Given the description of an element on the screen output the (x, y) to click on. 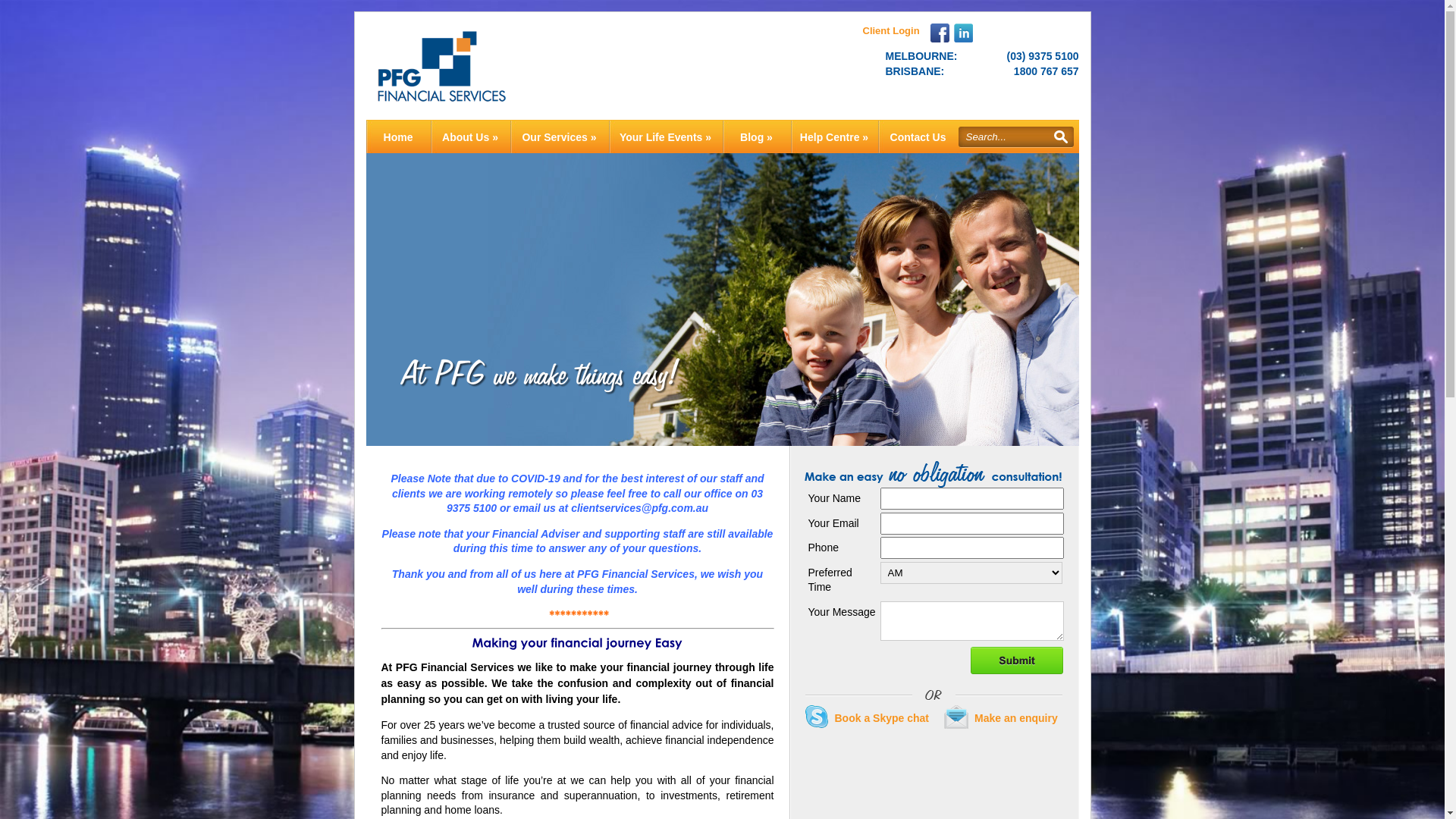
1800 767 657 Element type: text (1046, 71)
Contact Us Element type: text (918, 136)
Home Element type: text (397, 136)
(03) 9375 5100 Element type: text (1043, 56)
Client Login Element type: text (890, 30)
Send Element type: text (1016, 660)
Book a Skype chat Element type: text (865, 721)
Make an enquiry Element type: text (1000, 721)
clientservices@pfg.com.au Element type: text (639, 508)
